Given the description of an element on the screen output the (x, y) to click on. 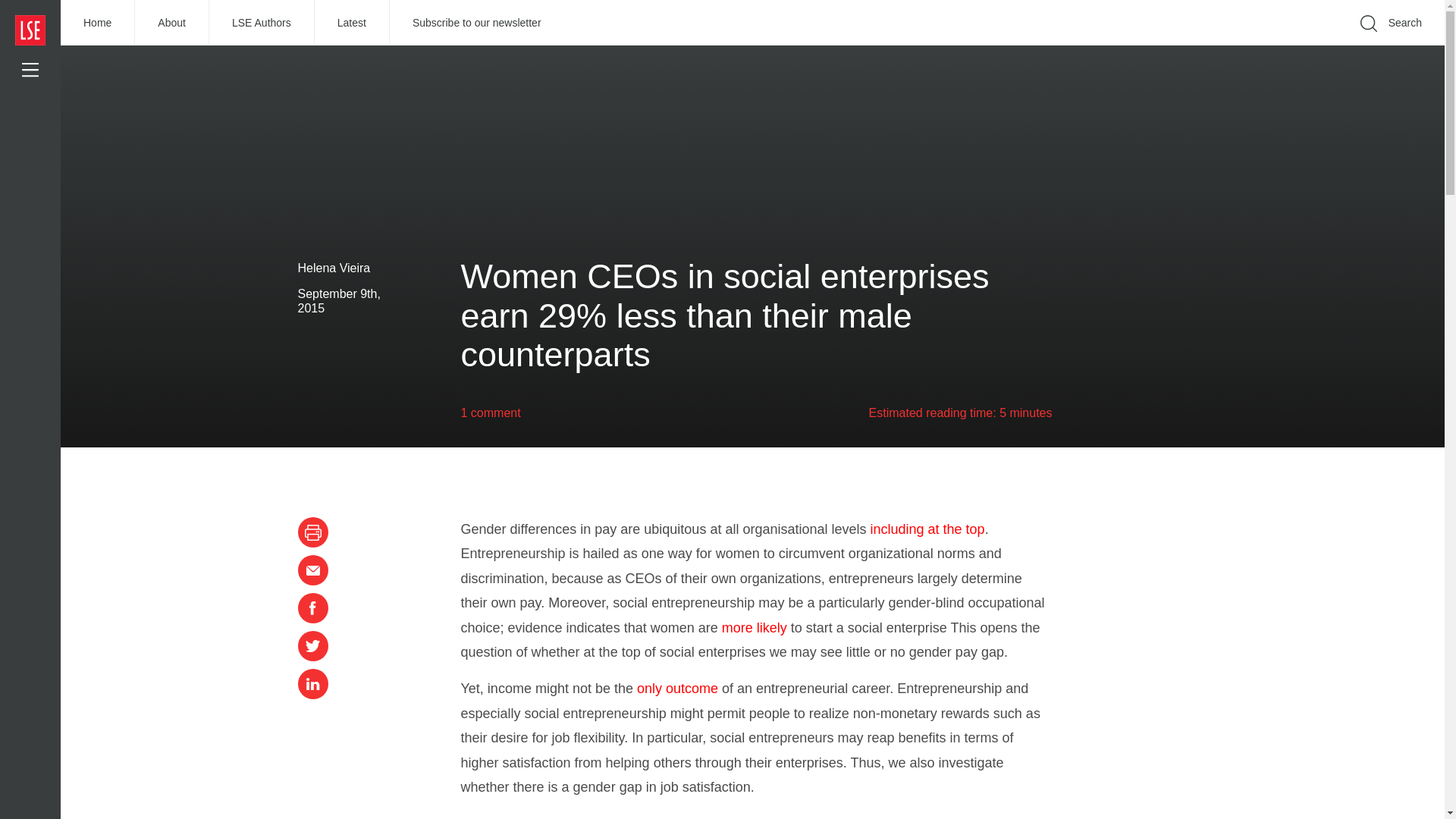
Home (98, 22)
including at the top (927, 529)
Latest (352, 22)
About (172, 22)
more likely (754, 627)
Go (1190, 44)
LSE Authors (261, 22)
only outcome (677, 688)
1 comment (491, 412)
Subscribe to our newsletter (477, 22)
